Given the description of an element on the screen output the (x, y) to click on. 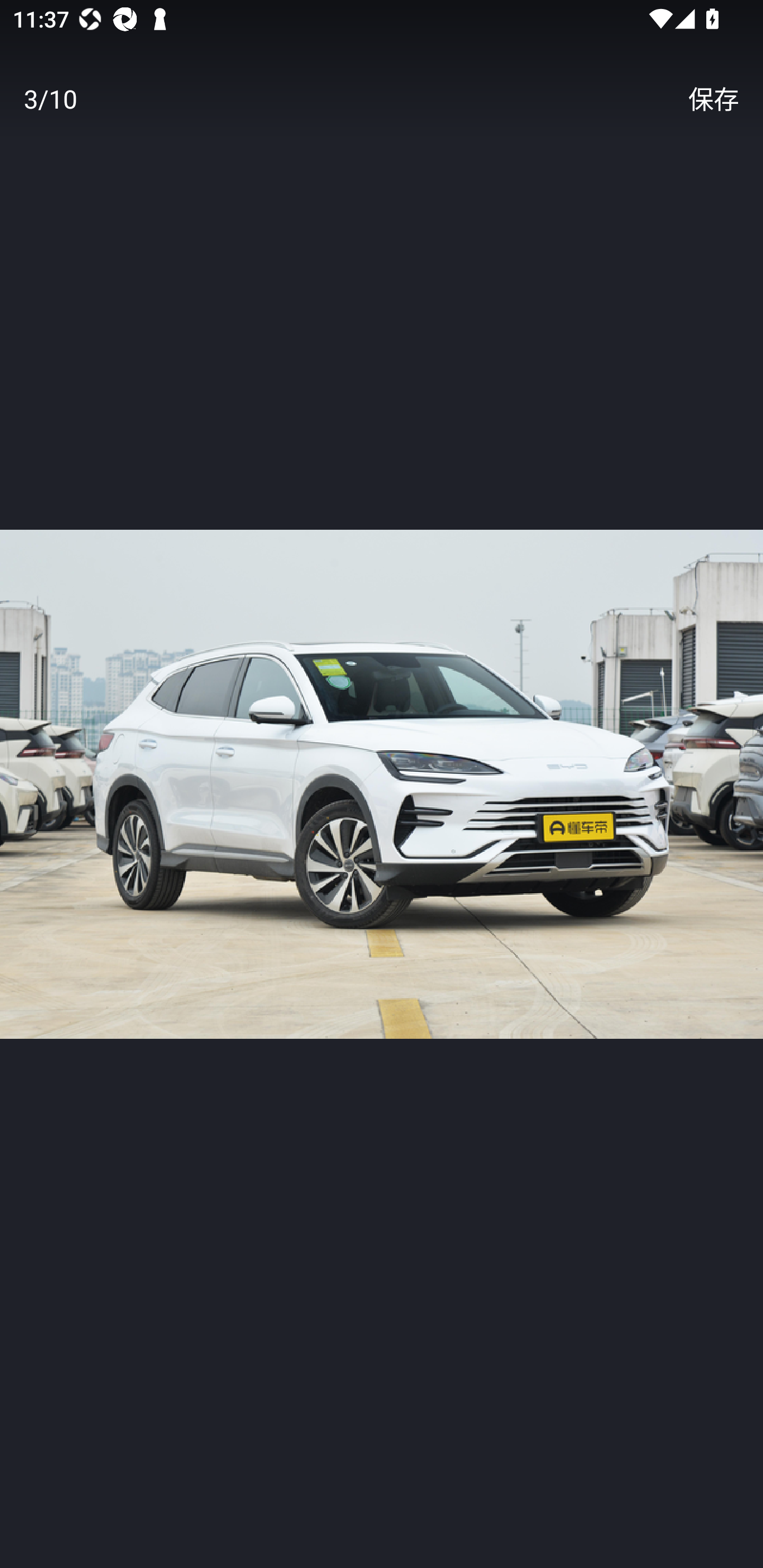
保存 (713, 98)
